Given the description of an element on the screen output the (x, y) to click on. 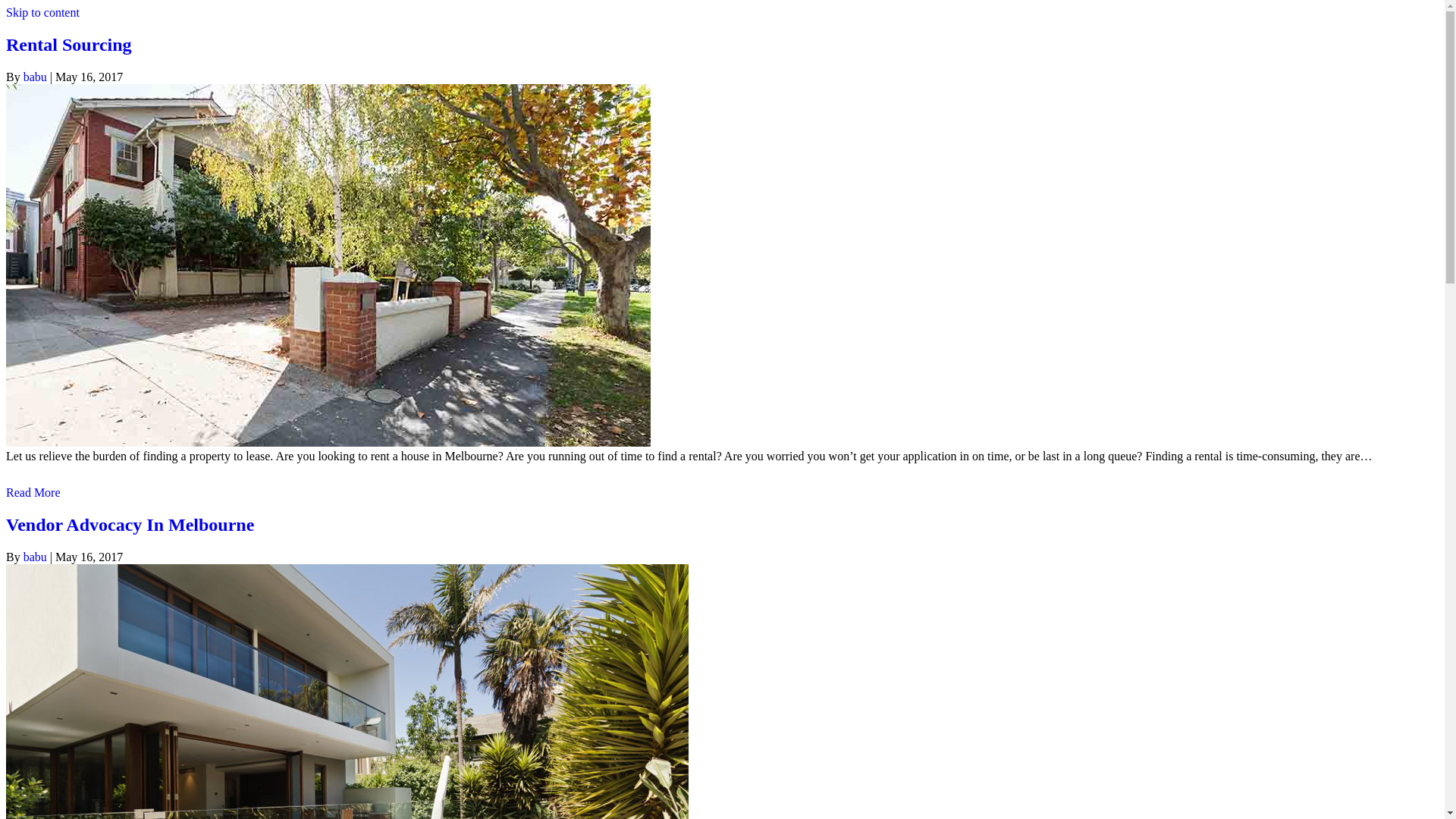
babu Element type: text (35, 76)
Read More Element type: text (33, 492)
Vendor Advocacy In Melbourne Element type: text (130, 524)
Rental Sourcing Element type: hover (328, 442)
Skip to content Element type: text (42, 12)
babu Element type: text (35, 556)
Rental Sourcing Element type: text (68, 44)
